Given the description of an element on the screen output the (x, y) to click on. 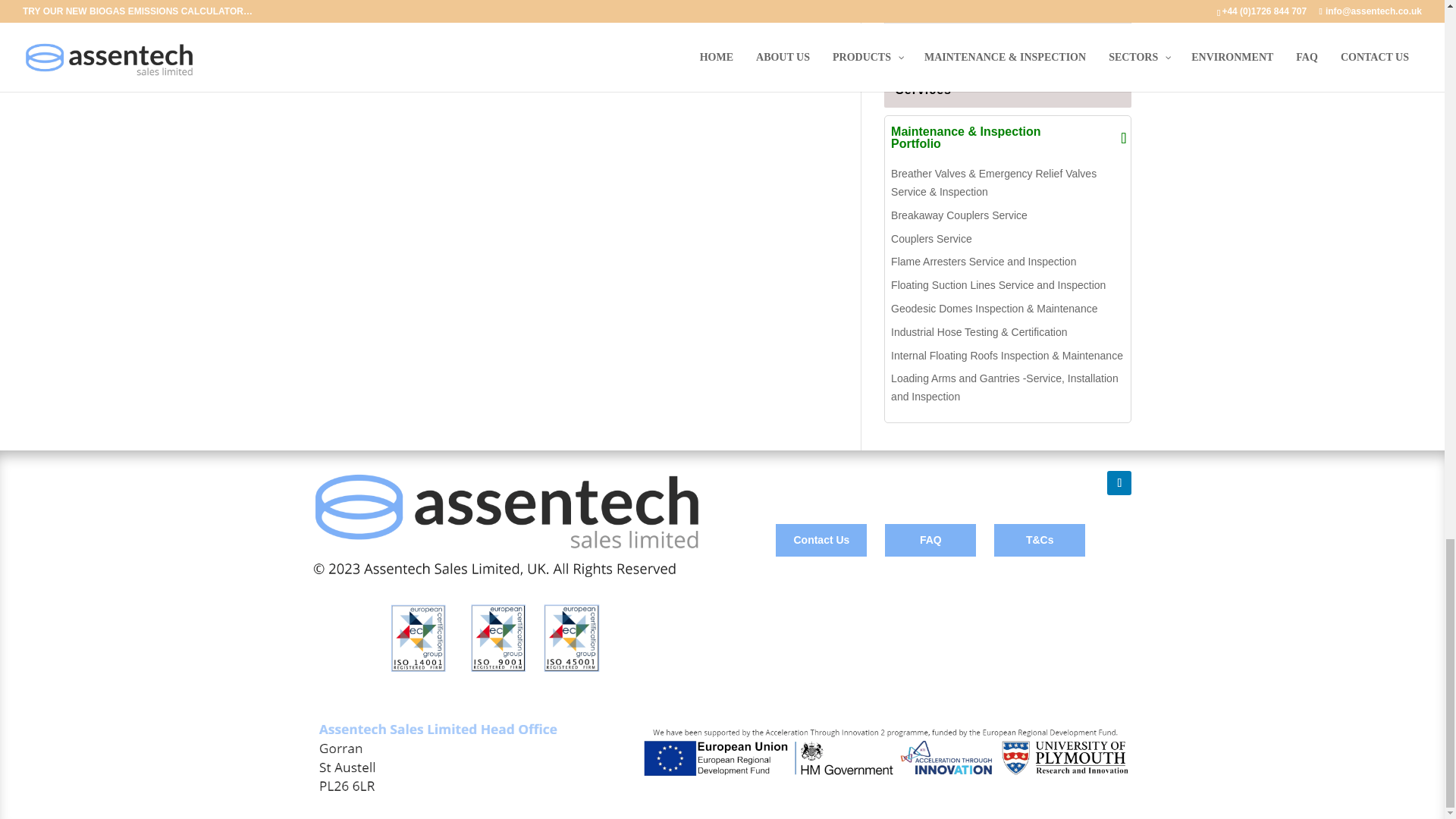
Assentech (505, 572)
Follow on LinkedIn (1118, 482)
assentech footer (722, 756)
